Given the description of an element on the screen output the (x, y) to click on. 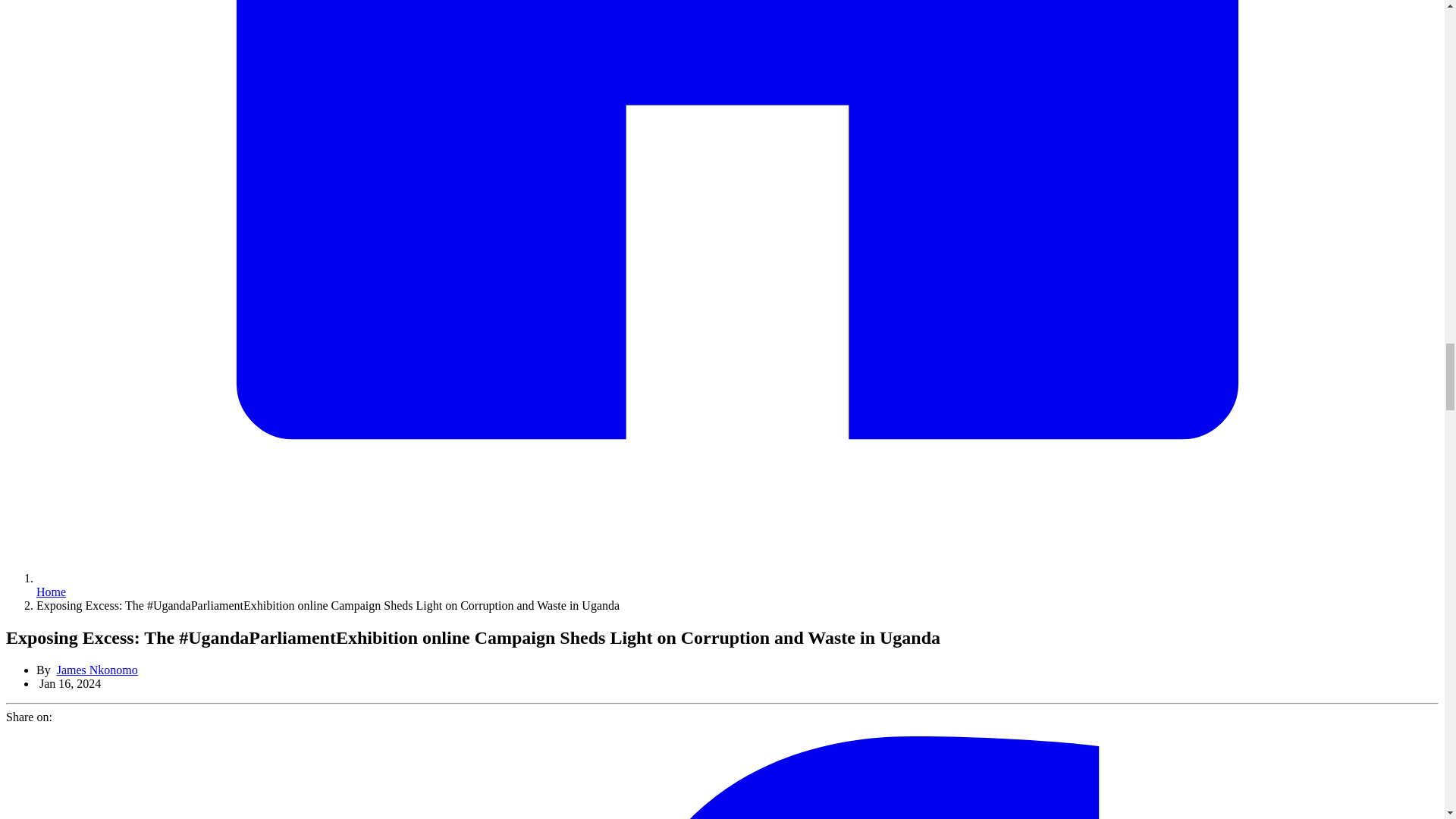
Home (50, 591)
James Nkonomo (97, 669)
